Given the description of an element on the screen output the (x, y) to click on. 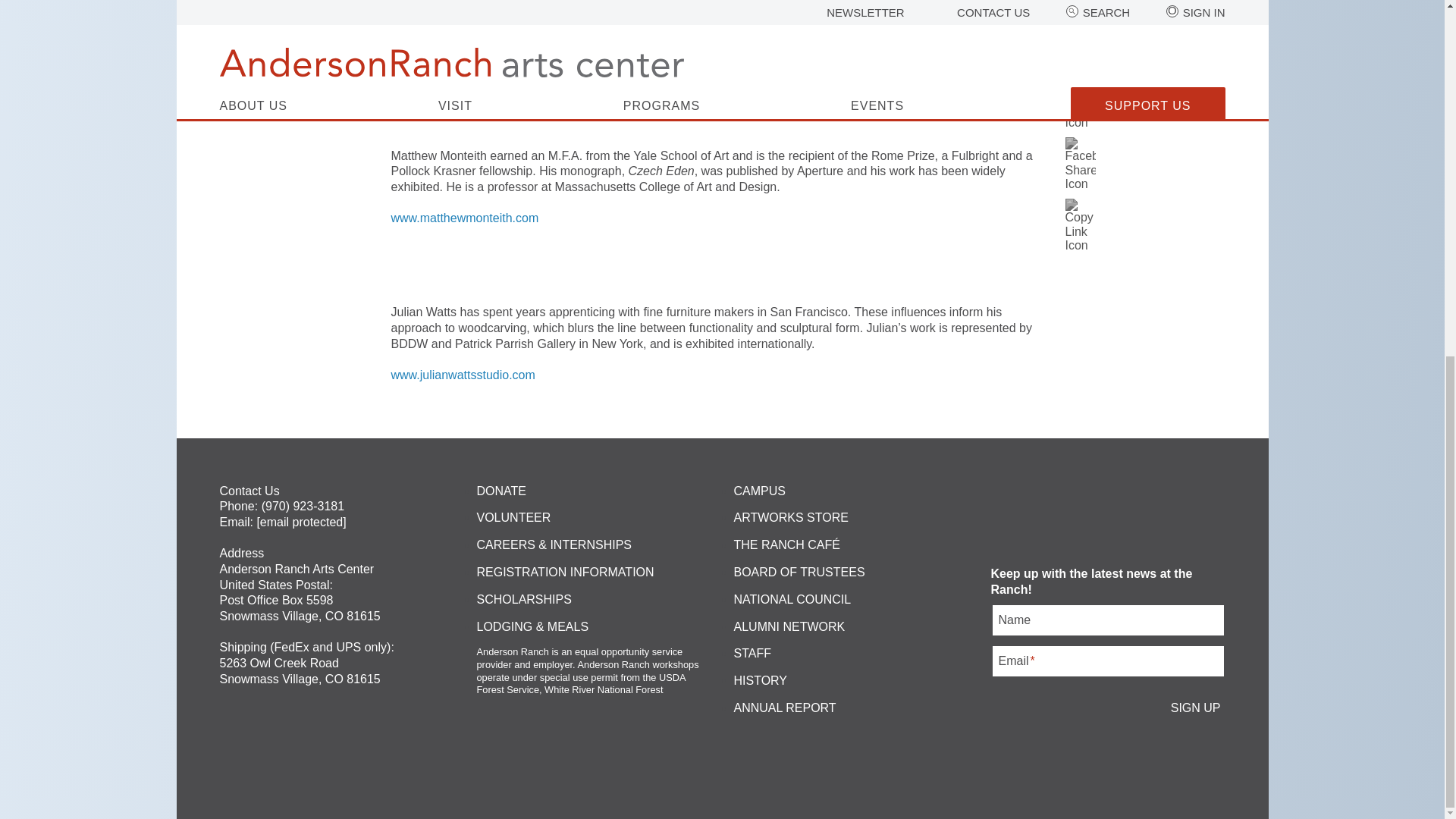
events (722, 66)
